Given the description of an element on the screen output the (x, y) to click on. 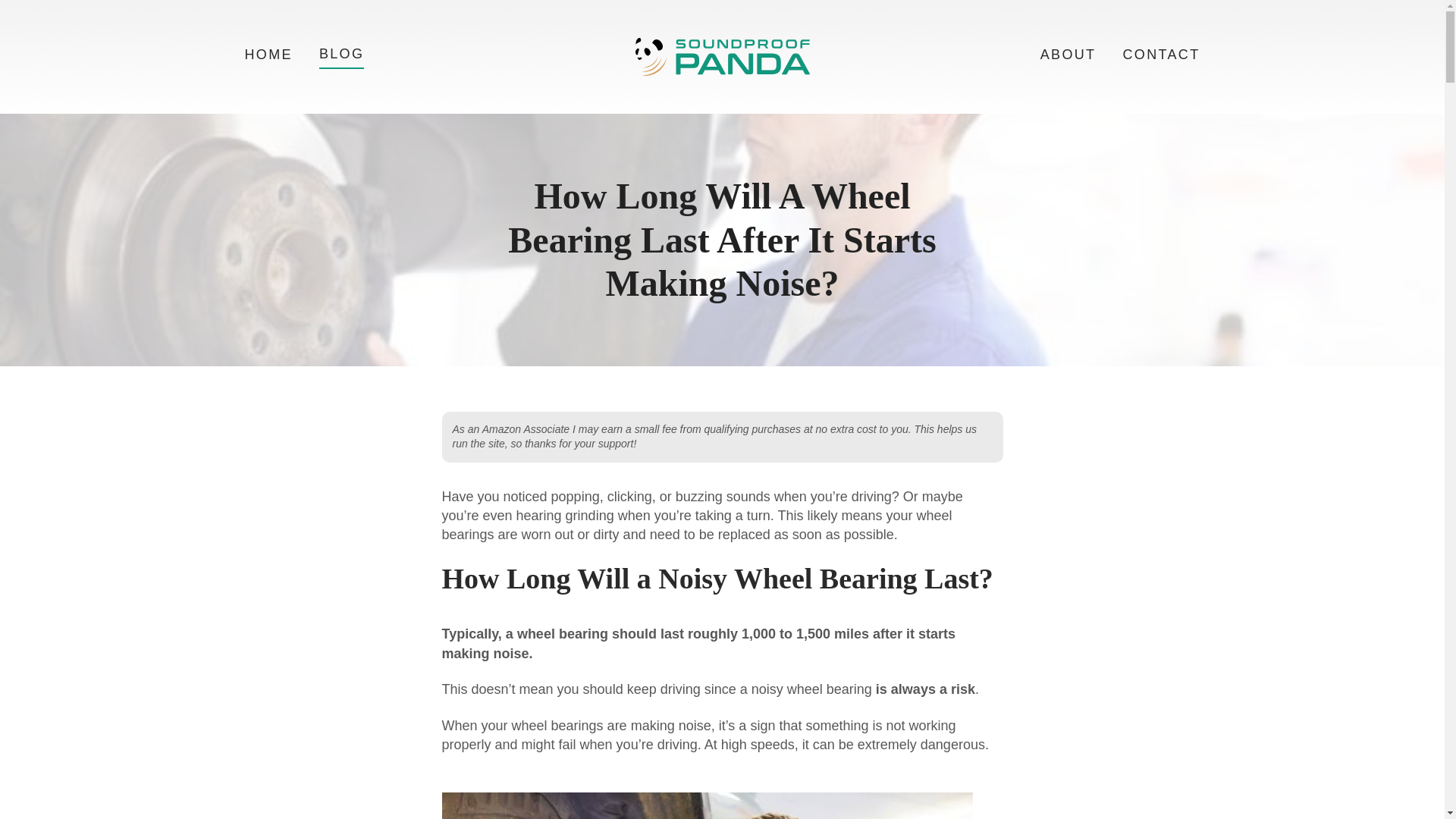
HOME (268, 56)
ABOUT (1068, 56)
BLOG (341, 56)
CONTACT (1160, 56)
Soundproof Panda (721, 56)
